Given the description of an element on the screen output the (x, y) to click on. 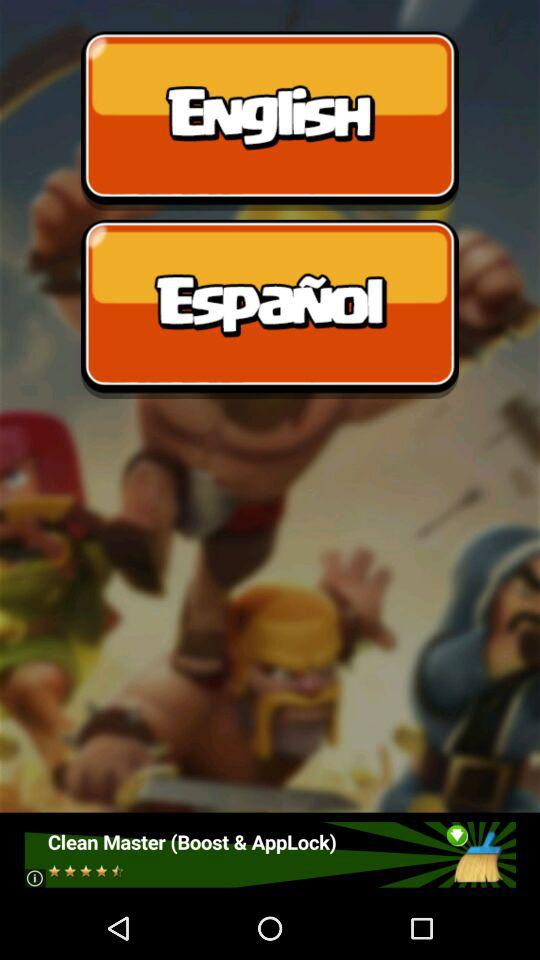
english language option (270, 120)
